Given the description of an element on the screen output the (x, y) to click on. 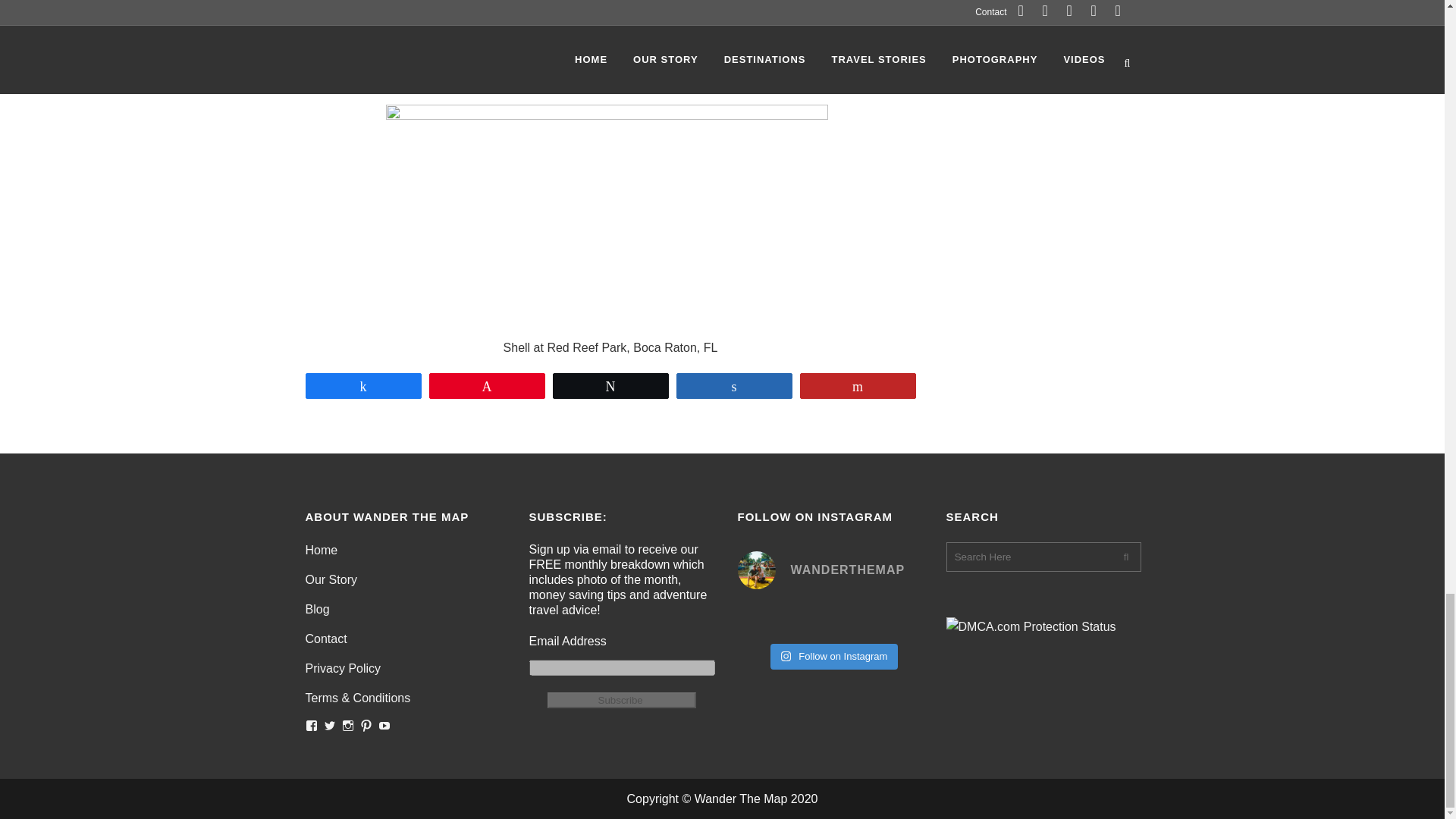
Seaweed (605, 38)
DMCA.com Protection Status (1031, 626)
Subscribe  (621, 700)
Shell (606, 221)
